Given the description of an element on the screen output the (x, y) to click on. 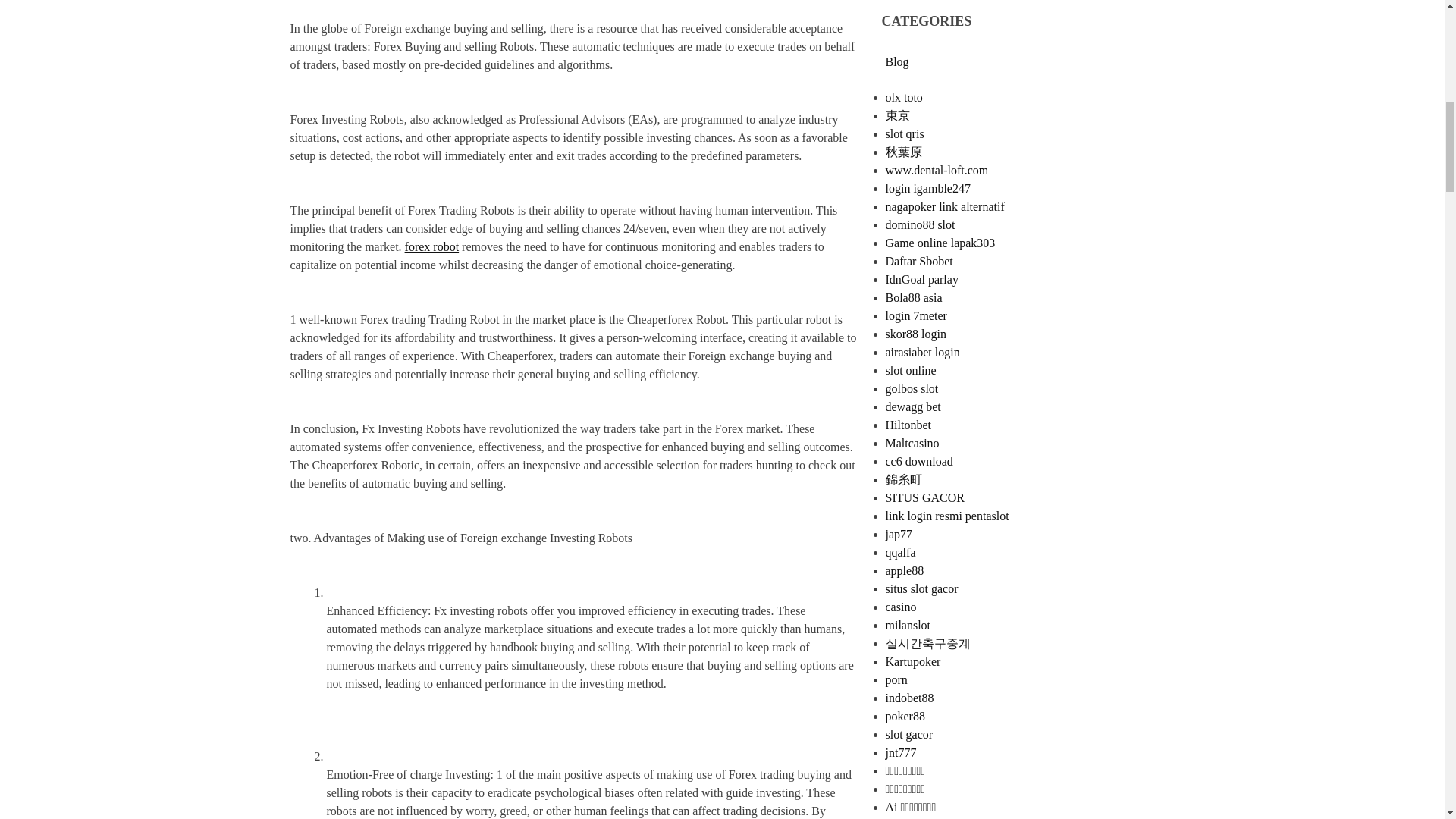
www.dental-loft.com (936, 169)
olx toto (904, 97)
Blog (896, 61)
login igamble247 (928, 187)
Game online lapak303 (940, 242)
nagapoker link alternatif (944, 205)
domino88 slot (920, 224)
slot qris (904, 133)
Daftar Sbobet (919, 260)
